Given the description of an element on the screen output the (x, y) to click on. 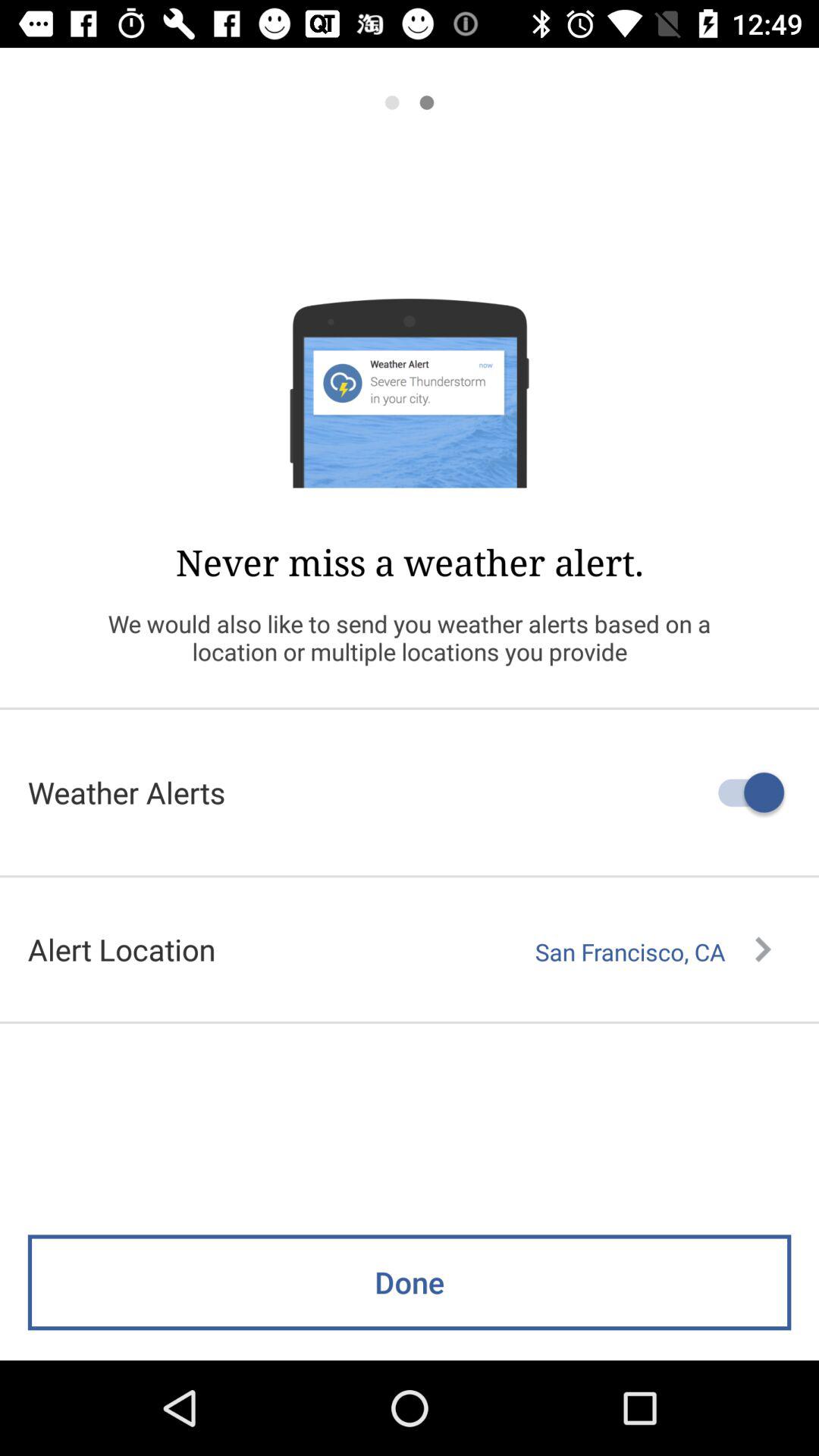
jump until done icon (409, 1282)
